Given the description of an element on the screen output the (x, y) to click on. 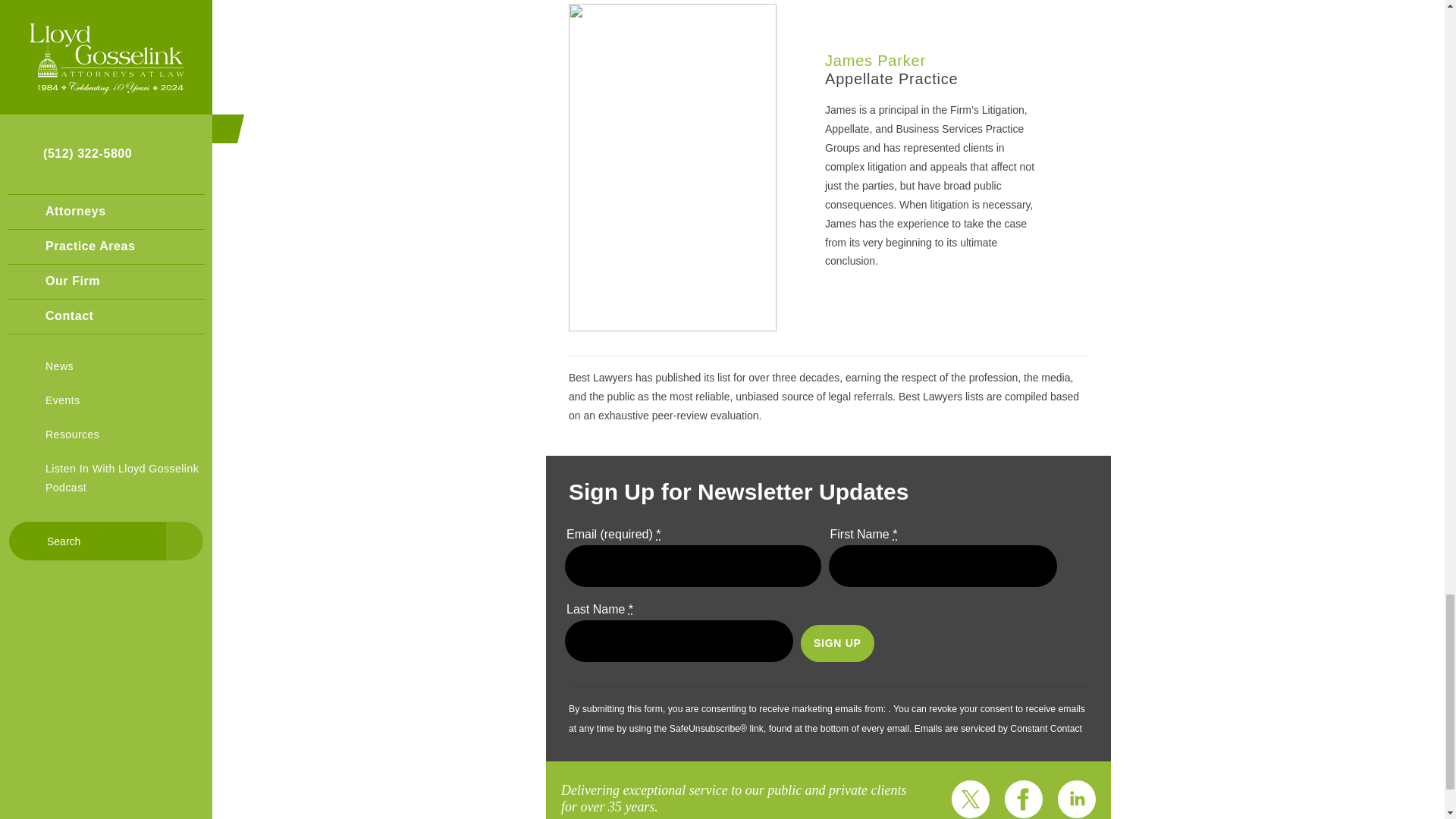
James Parker (875, 60)
Emails are serviced by Constant Contact (997, 728)
Sign up (836, 642)
Sign up (836, 642)
